Given the description of an element on the screen output the (x, y) to click on. 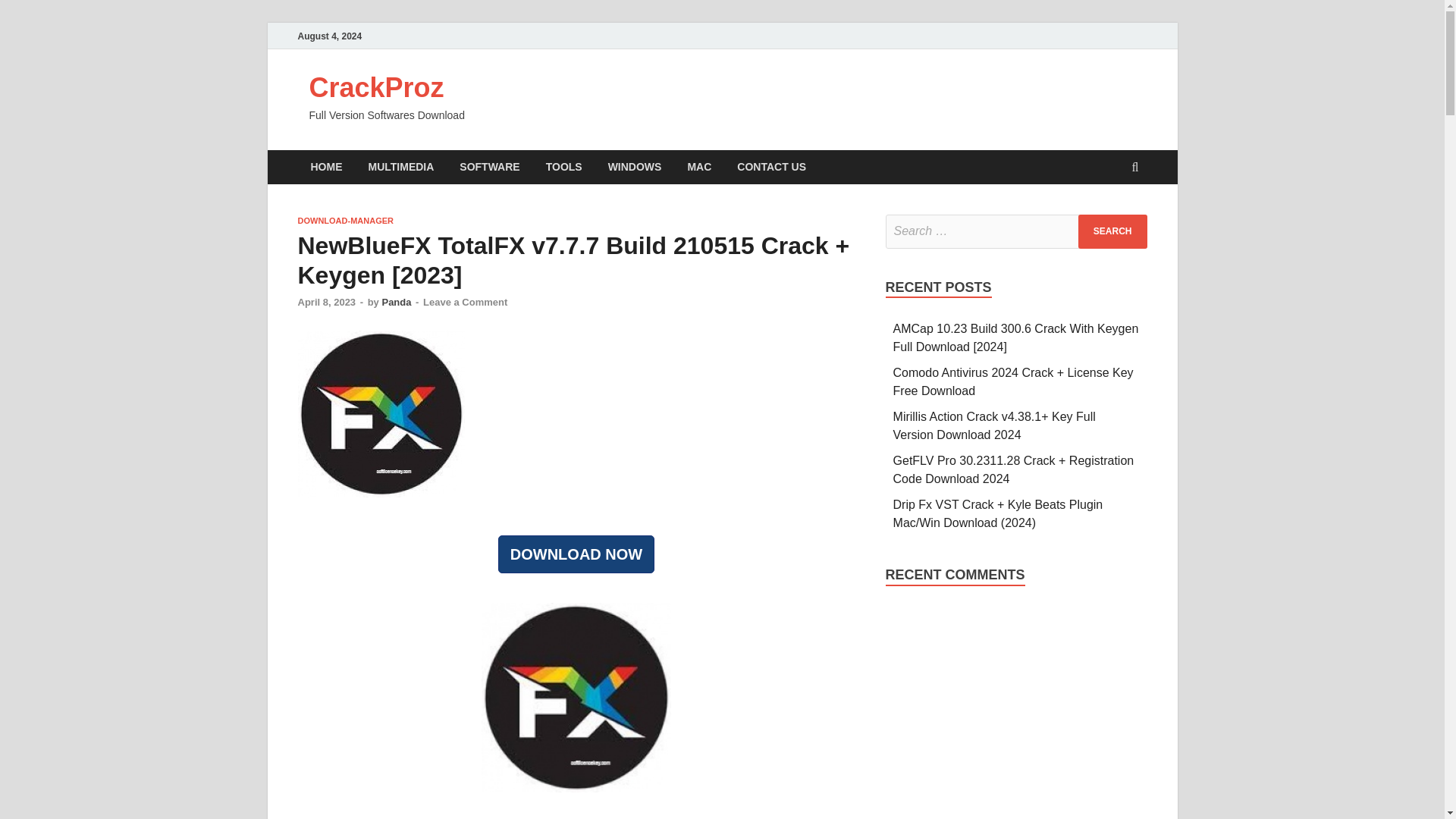
CONTACT US (770, 166)
Leave a Comment (464, 301)
DOWNLOAD NOW (575, 554)
TOOLS (563, 166)
MULTIMEDIA (400, 166)
Search (1112, 231)
SOFTWARE (489, 166)
Search (1112, 231)
MAC (698, 166)
CrackProz (376, 87)
DOWNLOAD-MANAGER (345, 220)
Panda (395, 301)
April 8, 2023 (326, 301)
HOME (326, 166)
WINDOWS (635, 166)
